Given the description of an element on the screen output the (x, y) to click on. 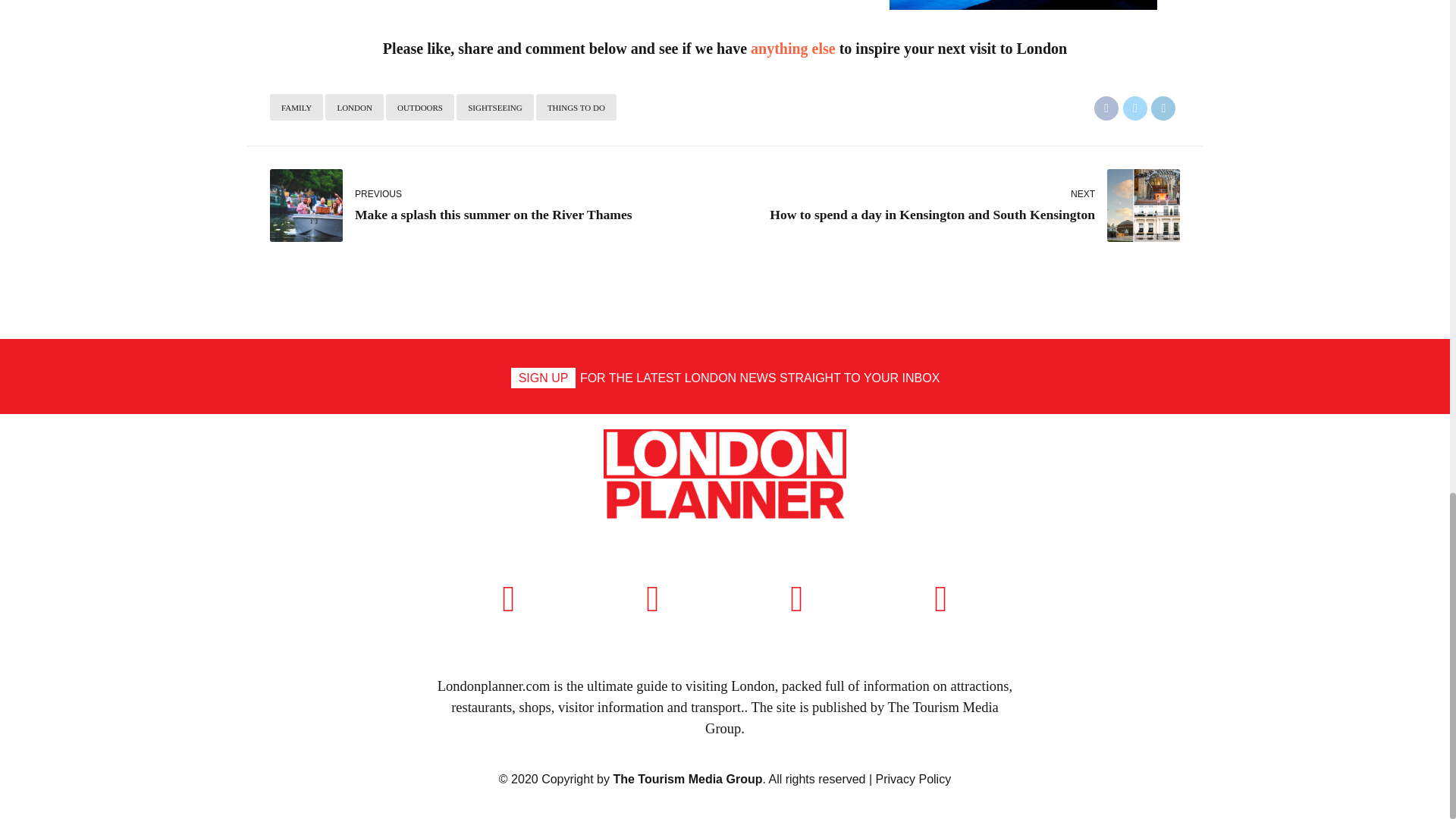
THINGS TO DO (575, 107)
LONDON (353, 107)
anything else (952, 204)
The Tourism Media Group (793, 48)
Share on Facebook (851, 718)
The Tourism Media Group (1106, 108)
SIGHTSEEING (686, 779)
Share on Twitter (494, 107)
London Planner Logo red (1134, 108)
FAMILY (724, 474)
OUTDOORS (497, 204)
SIGN UP (296, 107)
Share on Linkedin (419, 107)
